Given the description of an element on the screen output the (x, y) to click on. 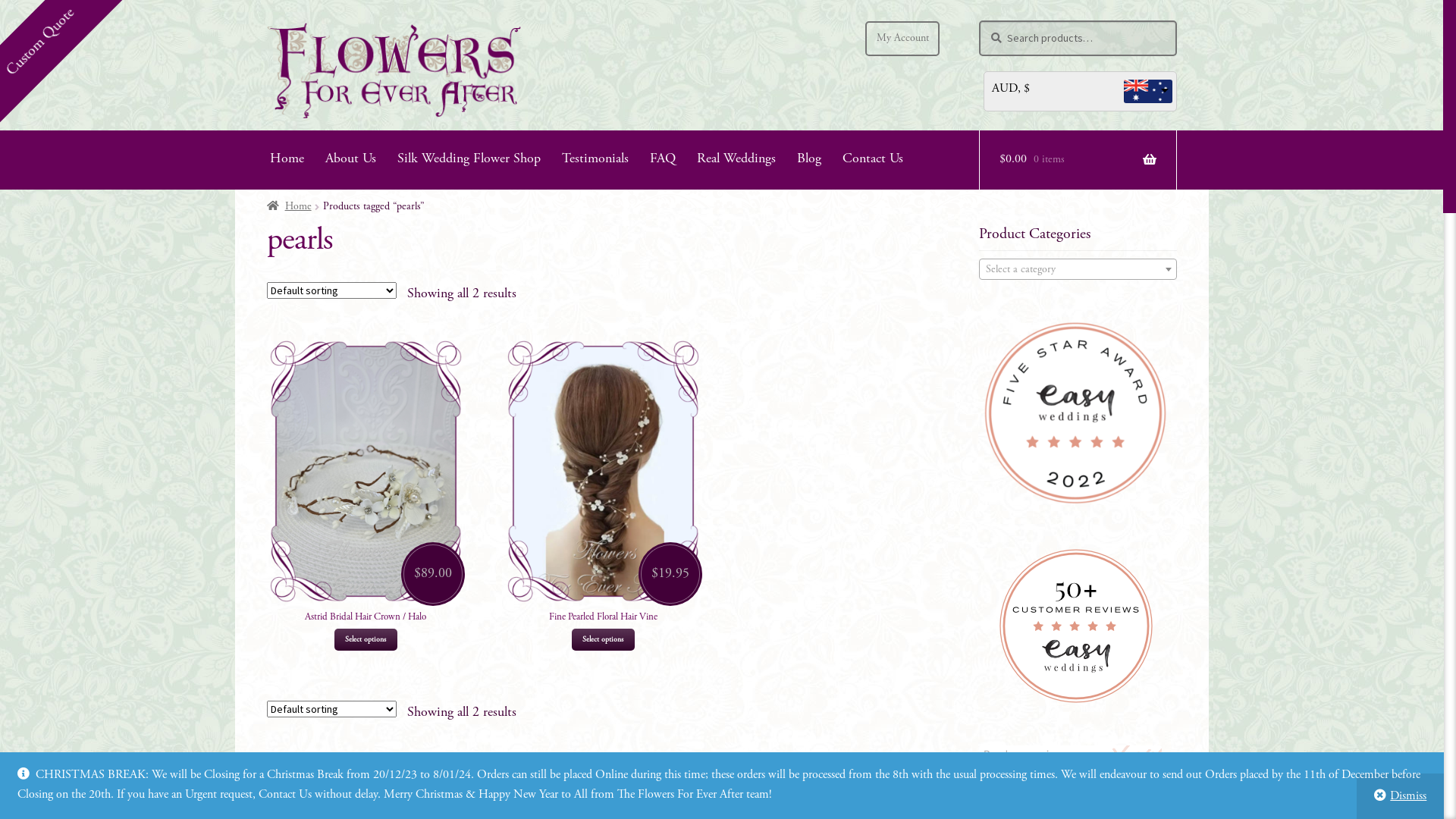
About Us Element type: text (350, 159)
Blog Element type: text (808, 159)
Review our business on easyweddings.com.au Element type: hover (1077, 769)
$0.00 0 items Element type: text (1077, 159)
Silk Wedding Flower Shop Element type: text (468, 159)
Custom Quote Element type: text (47, 13)
My Account Element type: text (902, 38)
Real Weddings Element type: text (735, 159)
Skip to navigation Element type: text (266, 31)
Contact Us Element type: text (872, 159)
Home Element type: text (288, 206)
AUD, $ Element type: text (1087, 91)
Fine Pearled Floral Hair Vine
$19.95 Element type: text (603, 480)
Search Element type: text (978, 19)
Home Element type: text (286, 159)
Select options Element type: text (365, 639)
Select options Element type: text (602, 639)
FAQ Element type: text (662, 159)
Astrid Bridal Hair Crown / Halo
$89.00 Element type: text (365, 480)
Testimonials Element type: text (594, 159)
